Given the description of an element on the screen output the (x, y) to click on. 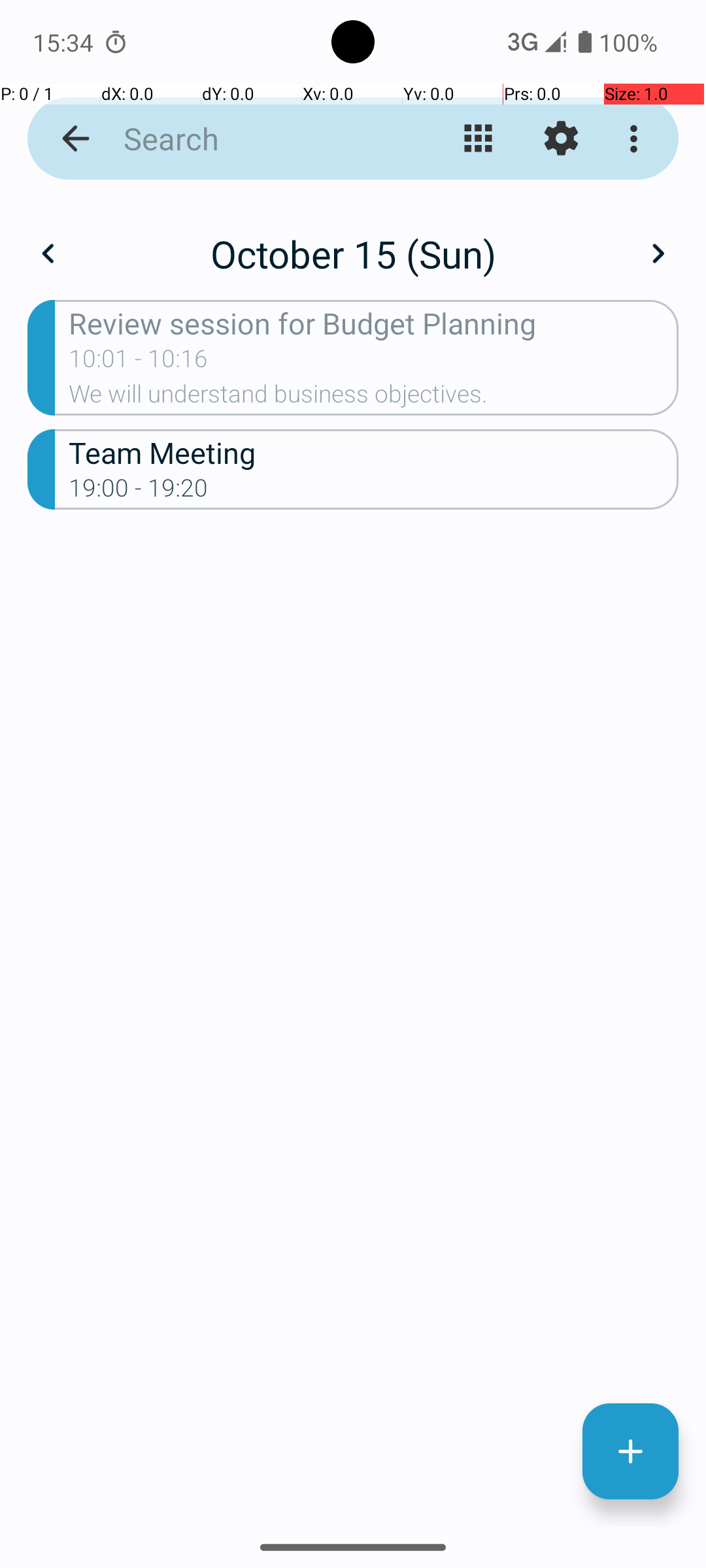
Review session for Budget Planning Element type: android.widget.TextView (373, 321)
10:01 - 10:16 Element type: android.widget.TextView (137, 362)
We will understand business objectives. Element type: android.widget.TextView (373, 397)
Team Meeting Element type: android.widget.TextView (373, 451)
19:00 - 19:20 Element type: android.widget.TextView (137, 491)
